Given the description of an element on the screen output the (x, y) to click on. 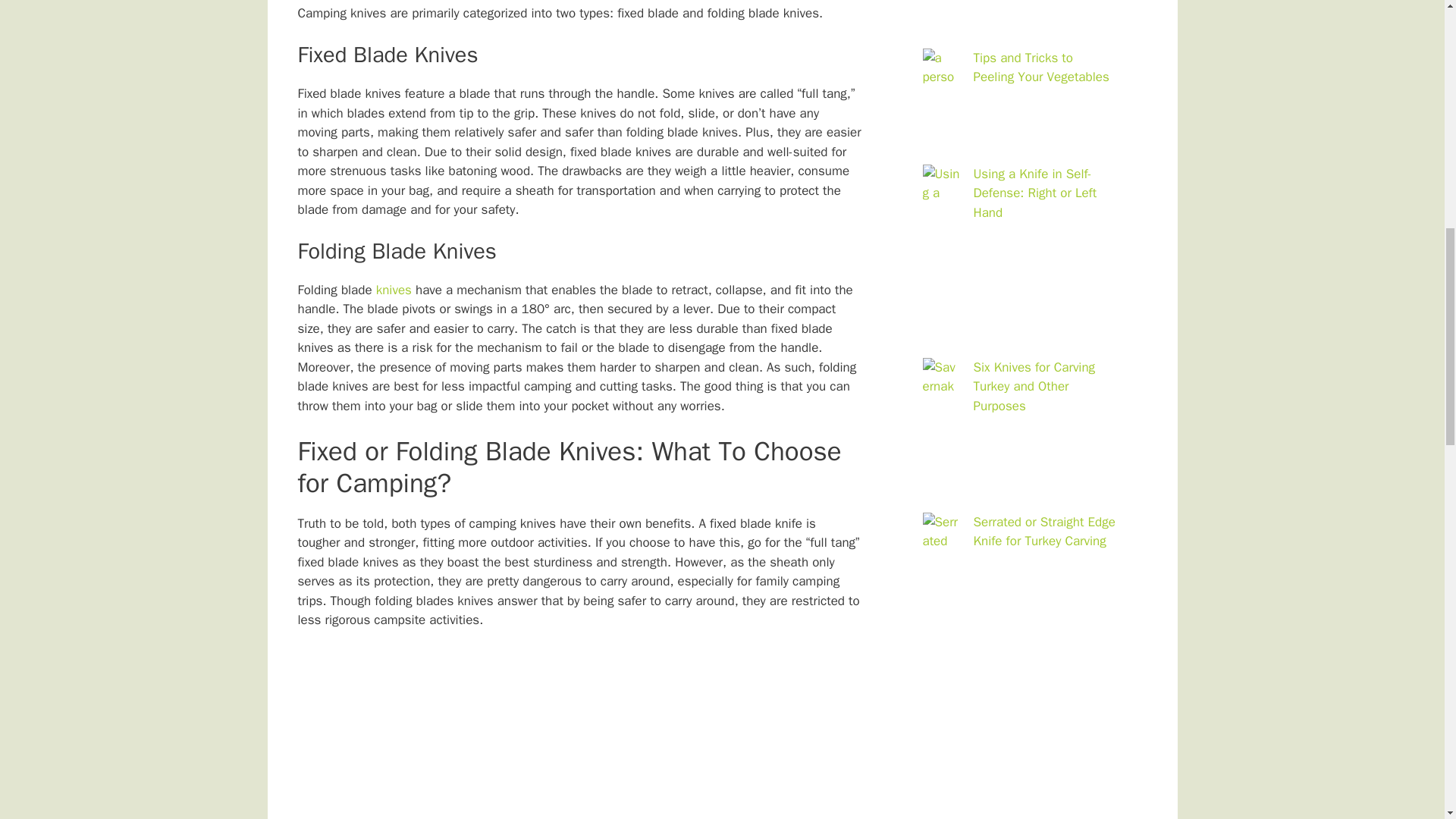
Tips and Tricks to Peeling Your Vegetables (1041, 67)
Six Knives for Carving Turkey and Other Purposes (1035, 386)
knives (393, 289)
Serrated or Straight Edge Knife for Turkey Carving (1044, 531)
Using a Knife in Self-Defense: Right or Left Hand (1035, 192)
